Given the description of an element on the screen output the (x, y) to click on. 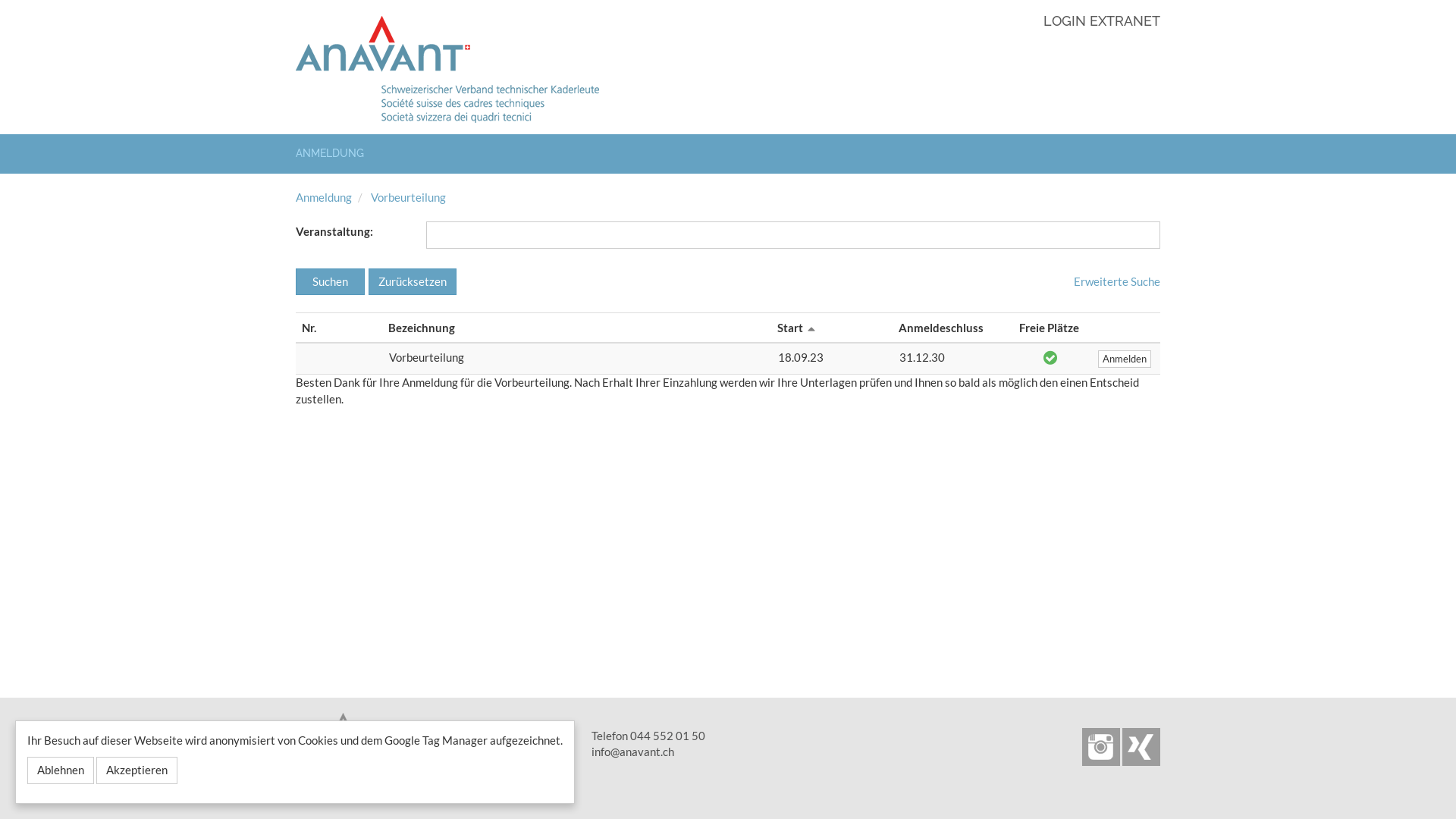
Akzeptieren Element type: text (136, 769)
Vorbeurteilung Element type: text (407, 196)
LOGIN EXTRANET Element type: text (1101, 22)
Ablehnen Element type: text (60, 769)
Erweiterte Suche Element type: text (1116, 281)
Anmelden Element type: text (1124, 359)
Anmeldung Element type: text (323, 196)
Suchen Element type: text (329, 281)
ANMELDUNG Element type: text (335, 153)
